Given the description of an element on the screen output the (x, y) to click on. 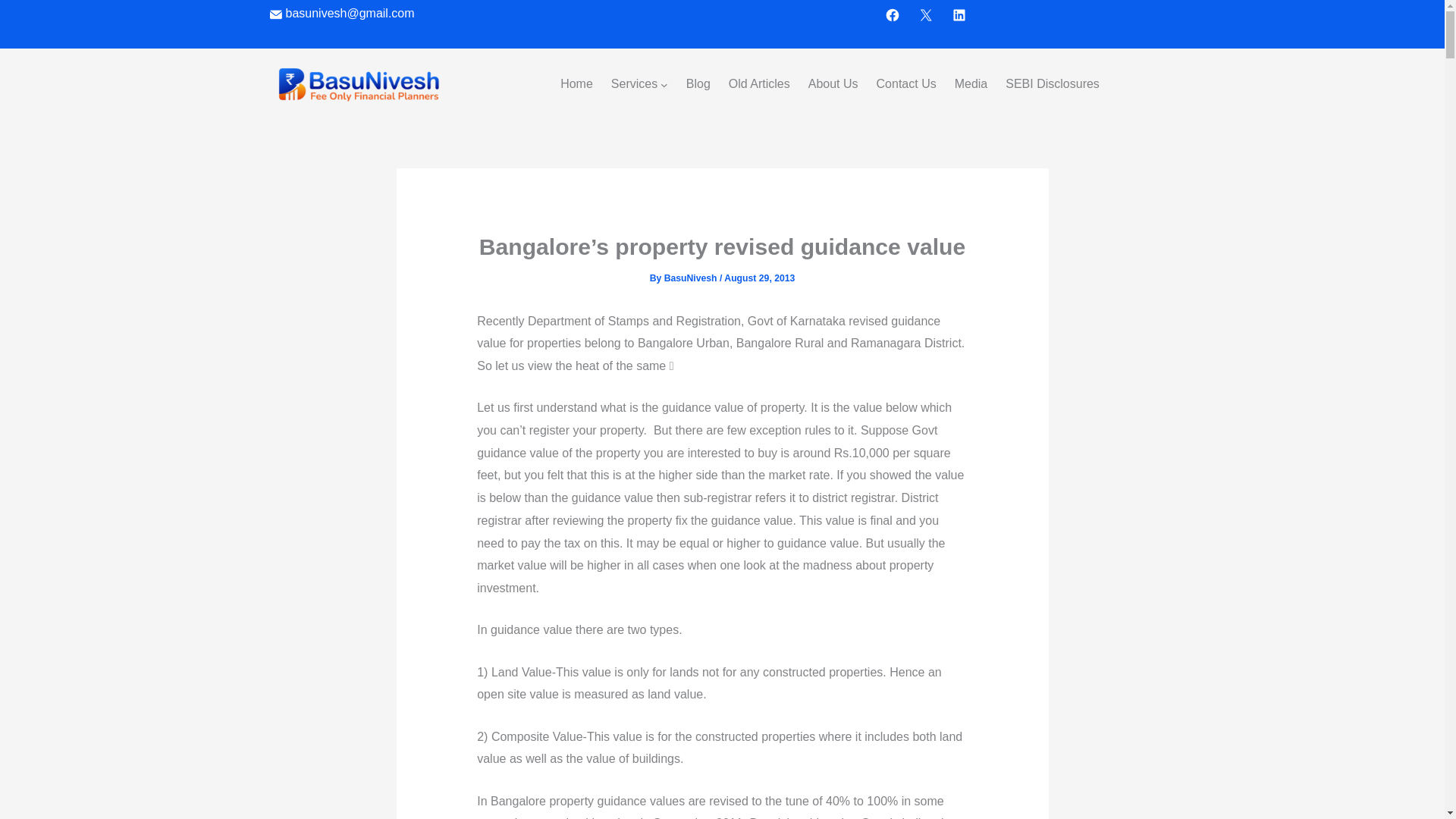
Old Articles (759, 83)
Contact Us (906, 83)
LinkedIn (958, 14)
BasuNivesh (691, 277)
SEBI Disclosures (1052, 83)
Facebook (891, 14)
Blog (697, 83)
View all posts by BasuNivesh (691, 277)
Media (971, 83)
Home (576, 83)
About Us (833, 83)
BasuNivesh-Logo-e1716643560372 (358, 83)
Services (634, 83)
X (925, 14)
